Given the description of an element on the screen output the (x, y) to click on. 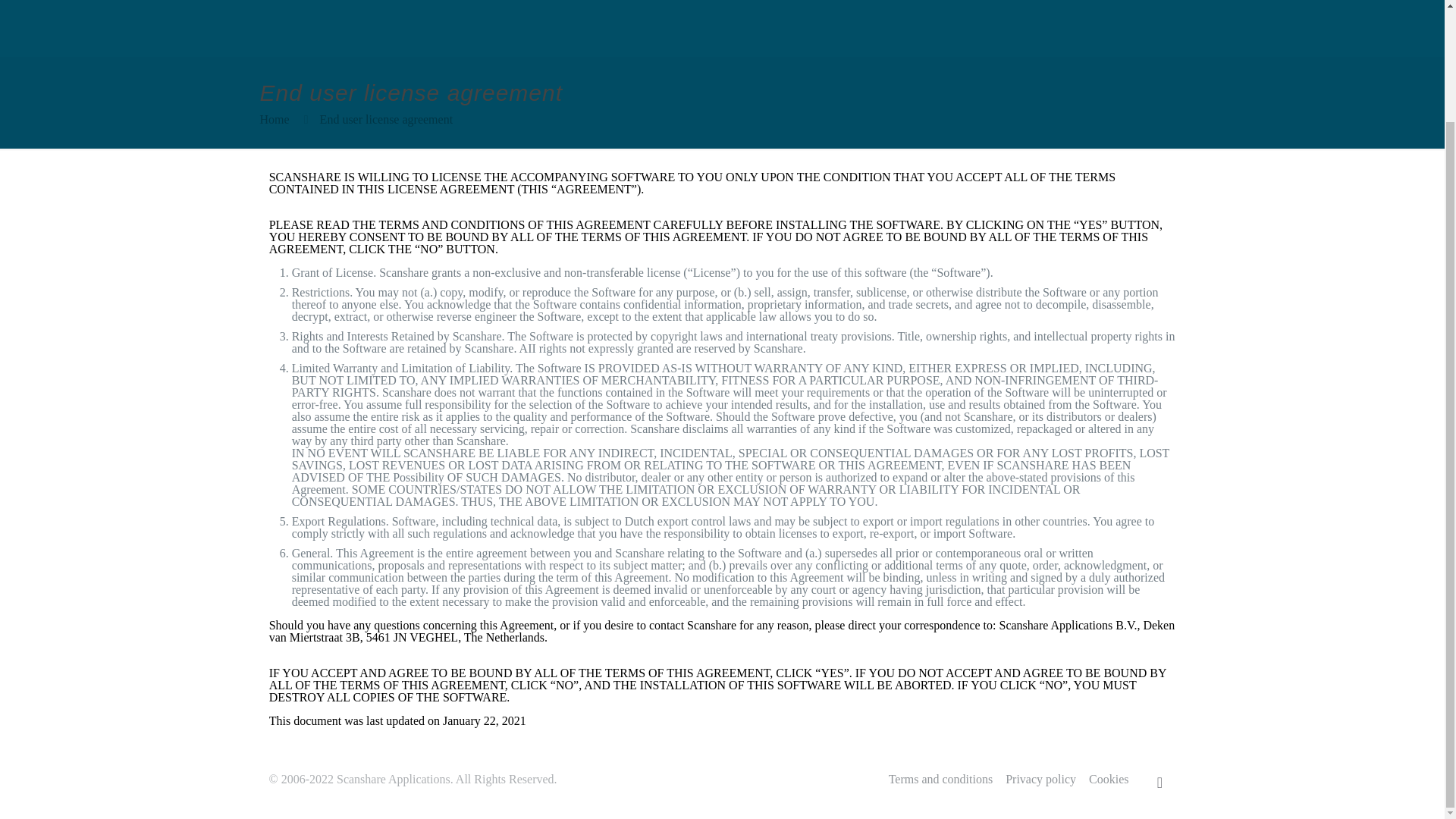
Privacy policy (1040, 779)
Terms and conditions (940, 779)
Home (273, 119)
Cookies (1108, 779)
